Given the description of an element on the screen output the (x, y) to click on. 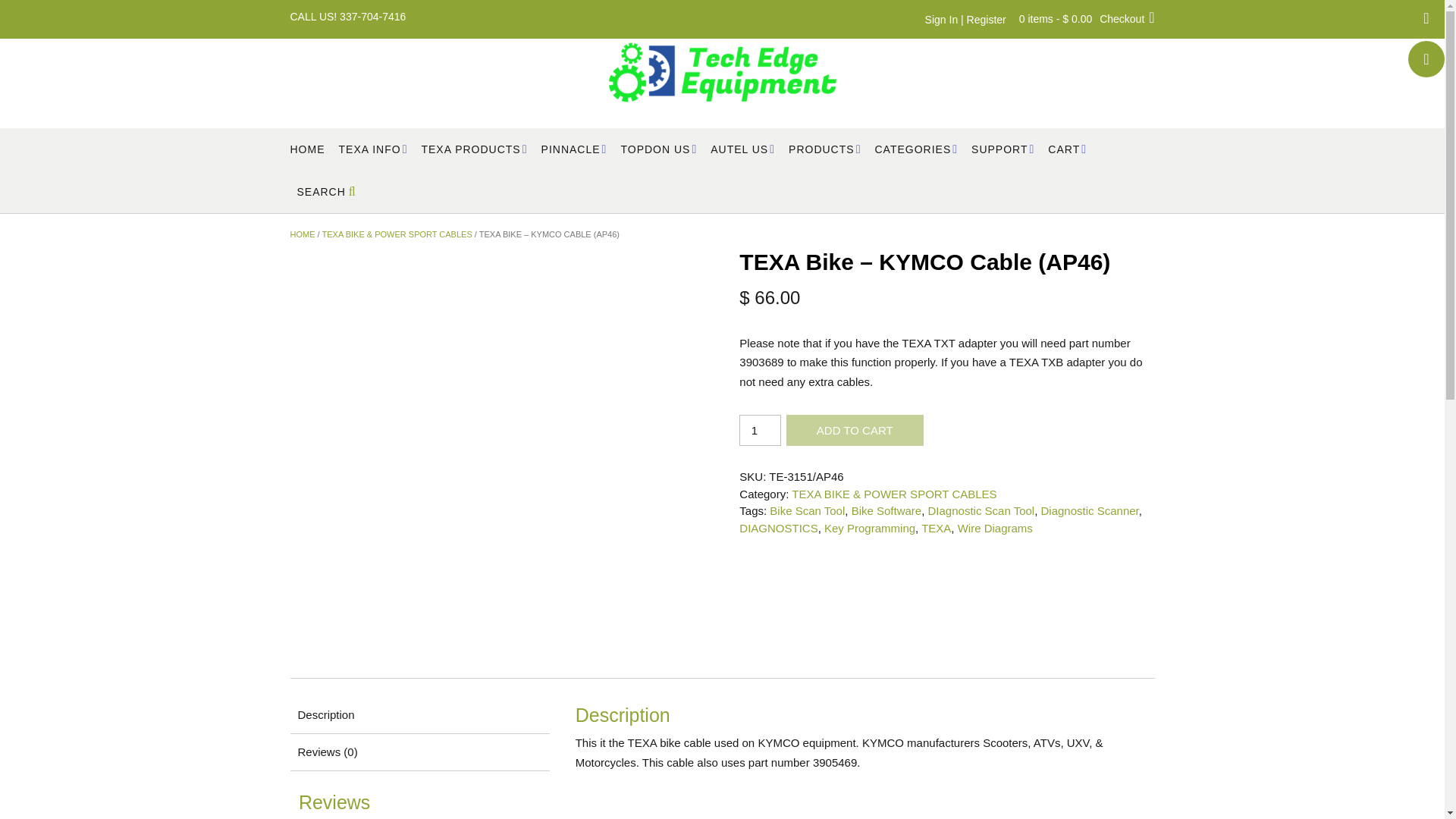
HOME (306, 149)
Tech Edge Equipment (721, 72)
TEXA PRODUCTS (473, 149)
PINNACLE (574, 149)
TEXA INFO (372, 149)
TOPDON US (658, 149)
1 (759, 429)
